Given the description of an element on the screen output the (x, y) to click on. 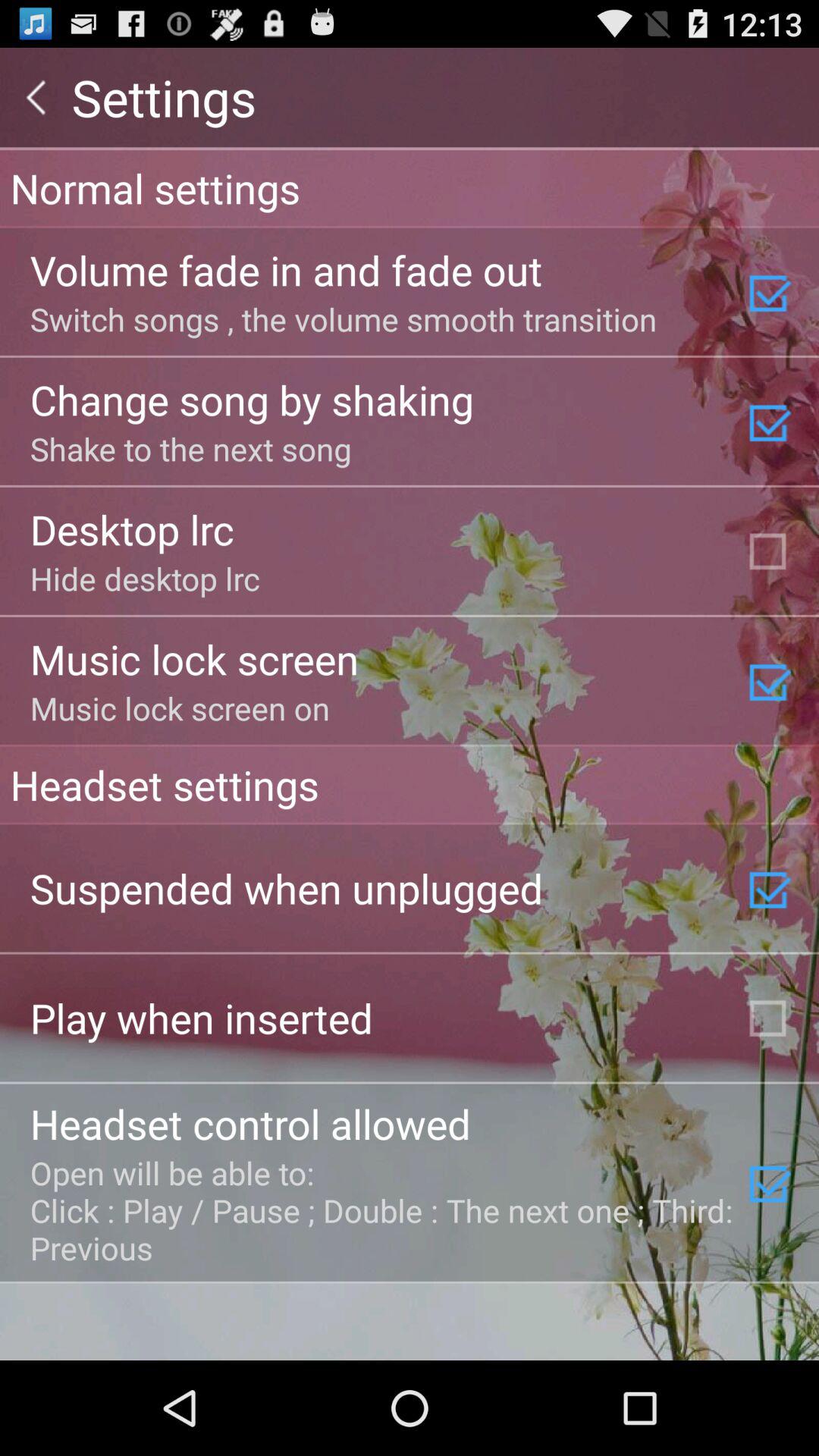
choose item below music lock screen icon (409, 784)
